Given the description of an element on the screen output the (x, y) to click on. 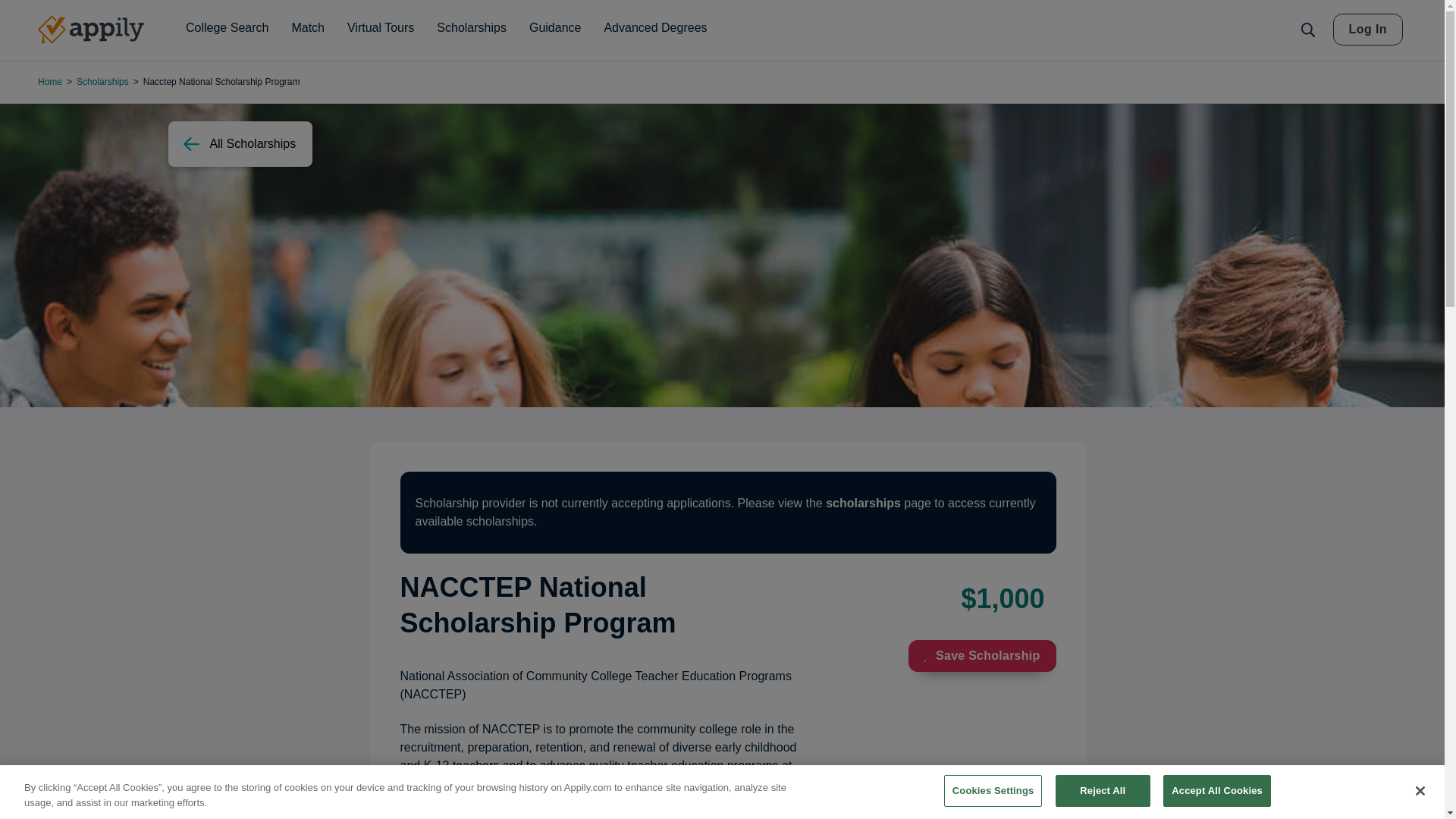
Virtual Tours (380, 28)
College Search (226, 28)
Match (307, 28)
Home (90, 29)
Scholarships (471, 28)
